Given the description of an element on the screen output the (x, y) to click on. 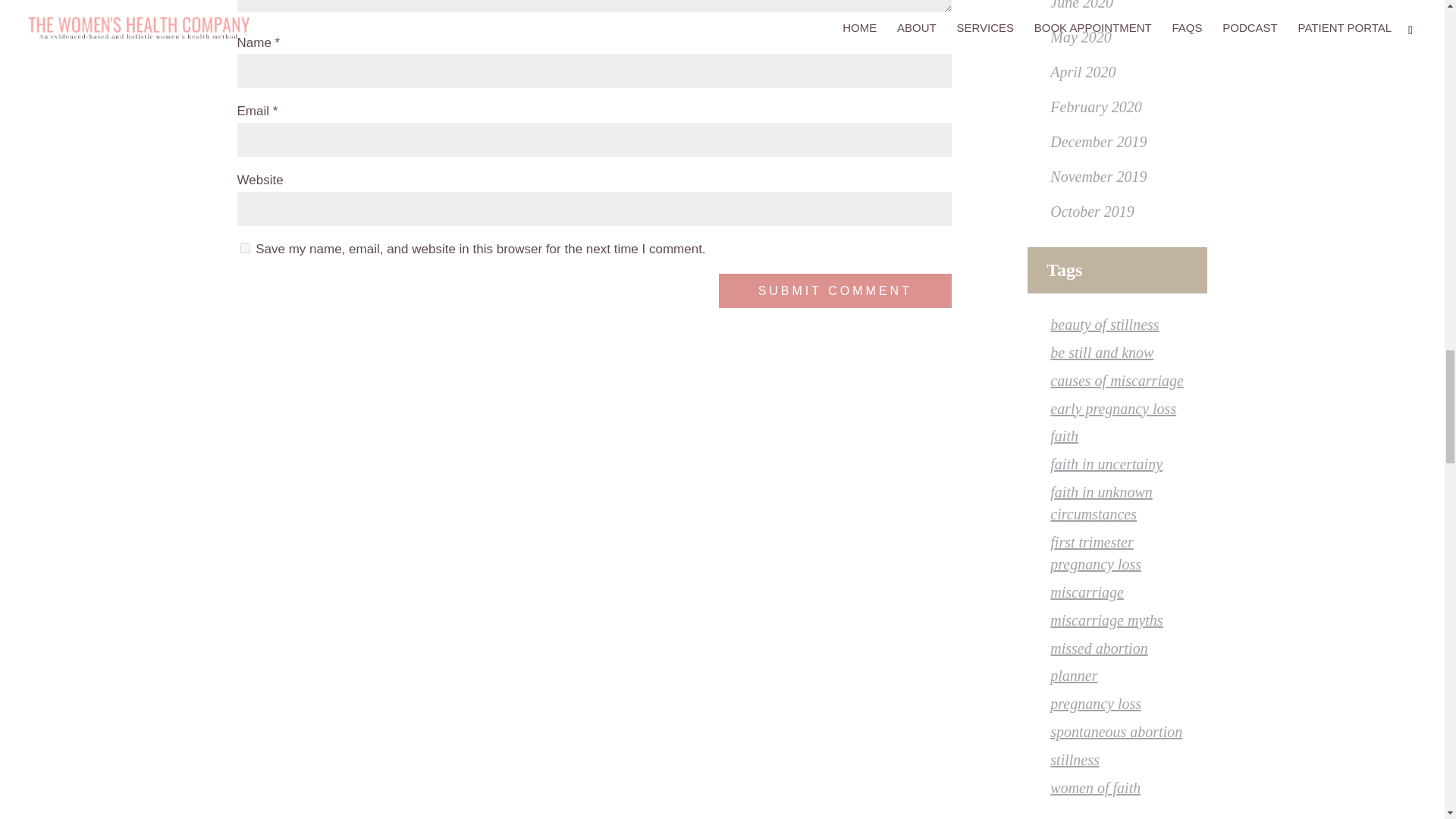
Submit Comment (835, 290)
Submit Comment (835, 290)
yes (244, 248)
